Given the description of an element on the screen output the (x, y) to click on. 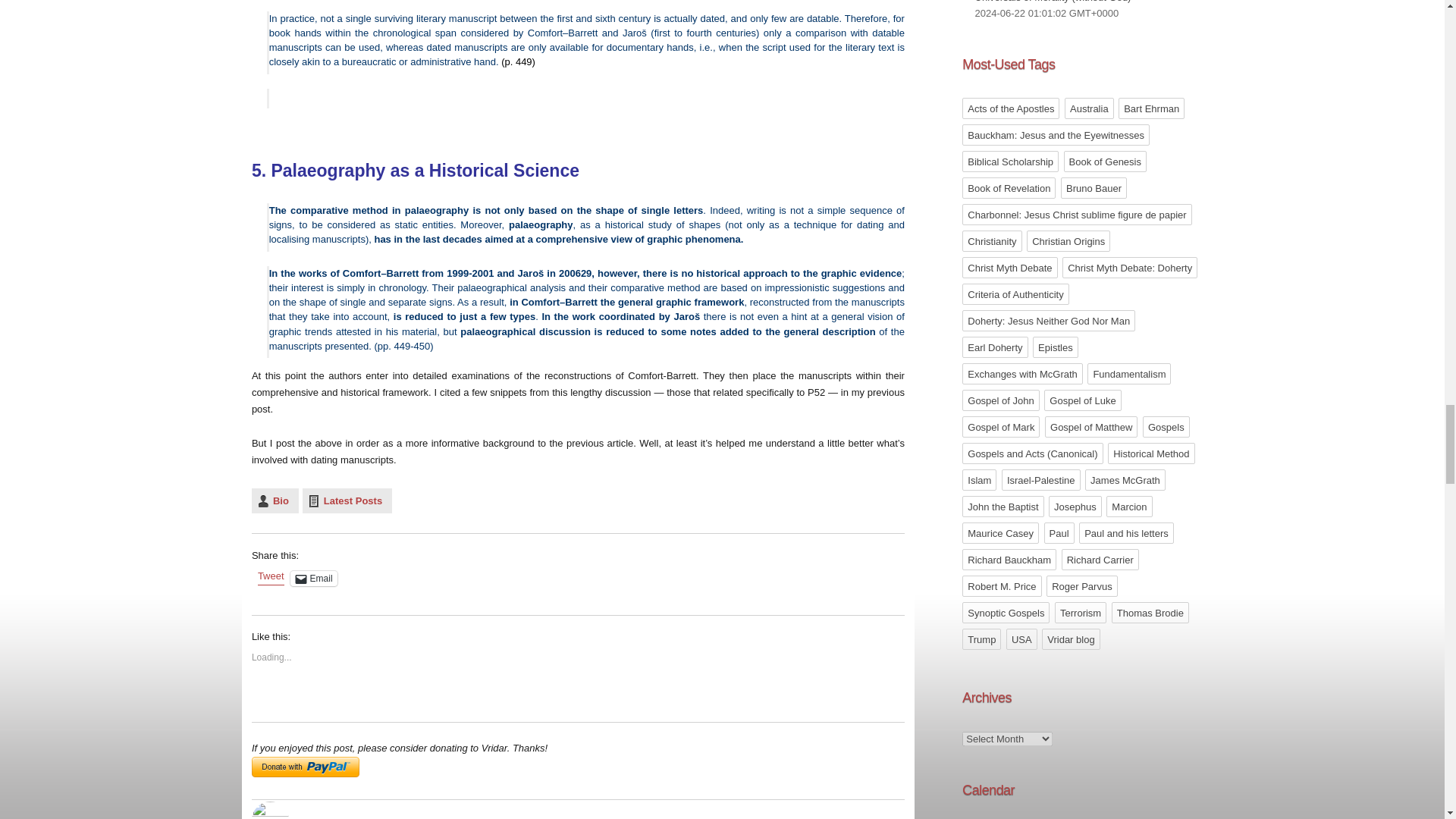
Tweet (270, 577)
Latest Posts (346, 500)
Click to email a link to a friend (313, 578)
Email (313, 578)
Bio (274, 500)
